Given the description of an element on the screen output the (x, y) to click on. 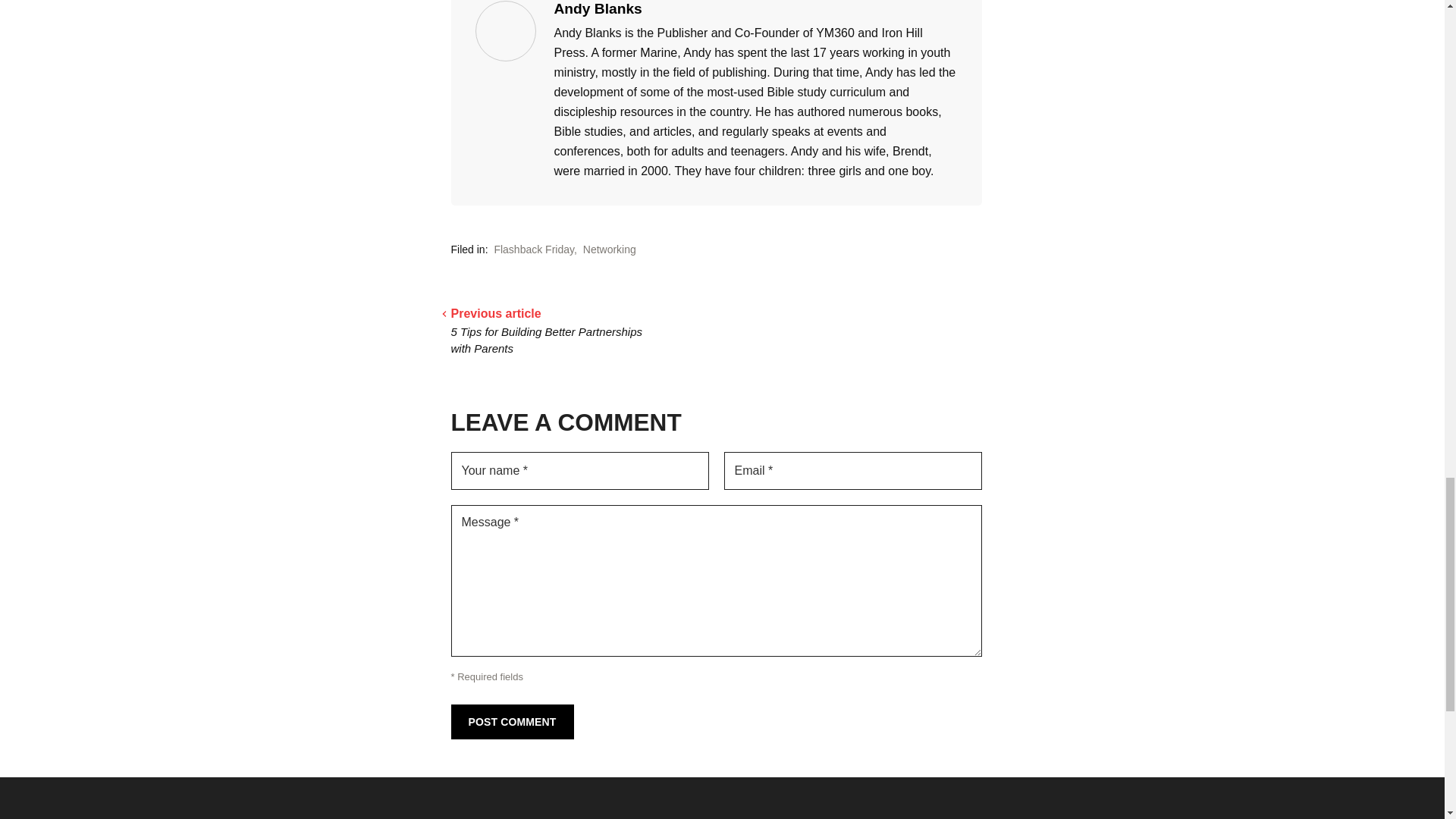
Show articles tagged Flashback Friday (533, 249)
Show articles tagged Networking (609, 249)
